Given the description of an element on the screen output the (x, y) to click on. 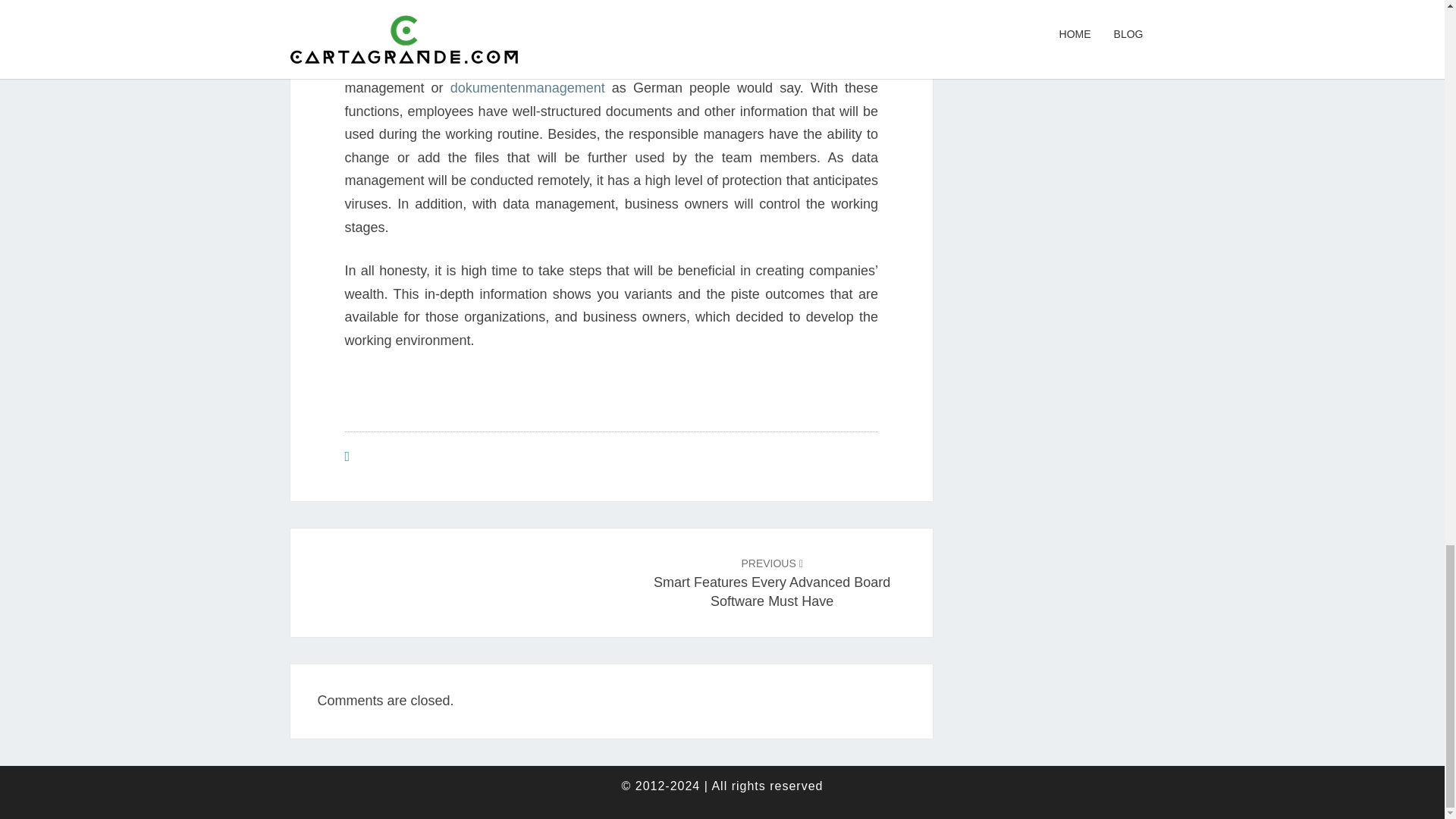
dokumentenmanagement (527, 87)
